Given the description of an element on the screen output the (x, y) to click on. 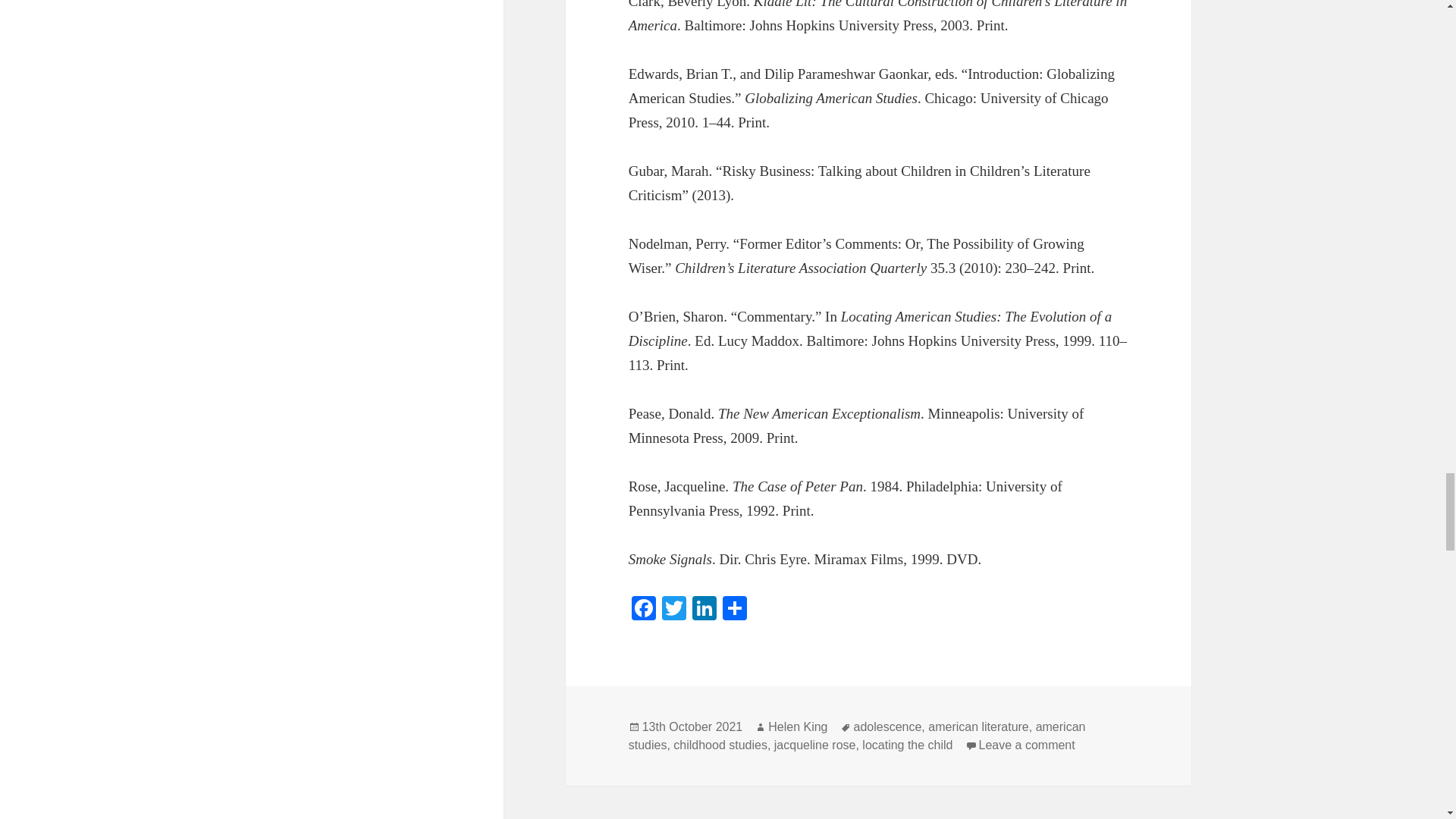
Twitter (673, 610)
LinkedIn (703, 610)
Facebook (643, 610)
